Given the description of an element on the screen output the (x, y) to click on. 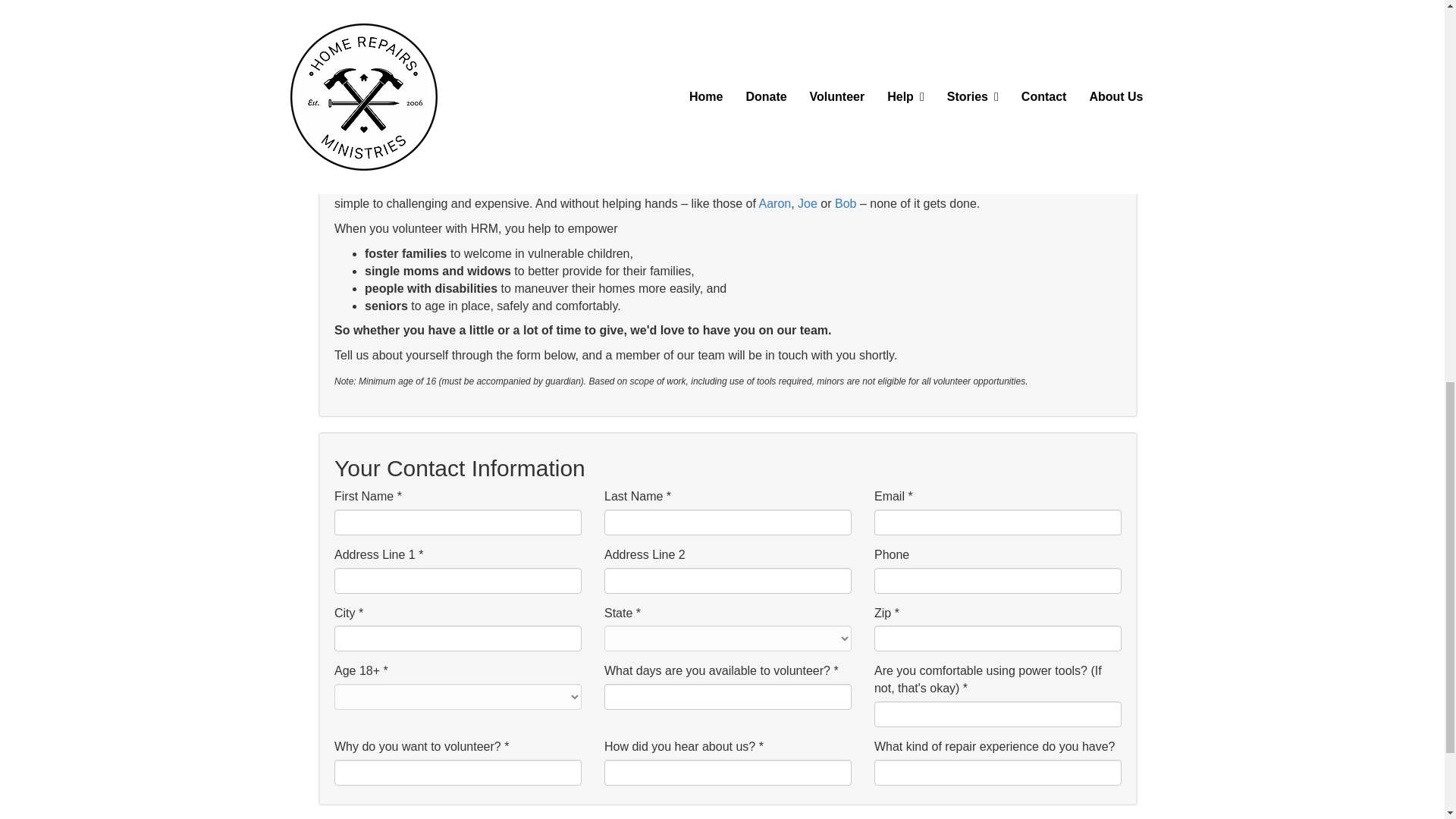
Bob (845, 203)
Aaron (774, 203)
Joe (806, 203)
